Given the description of an element on the screen output the (x, y) to click on. 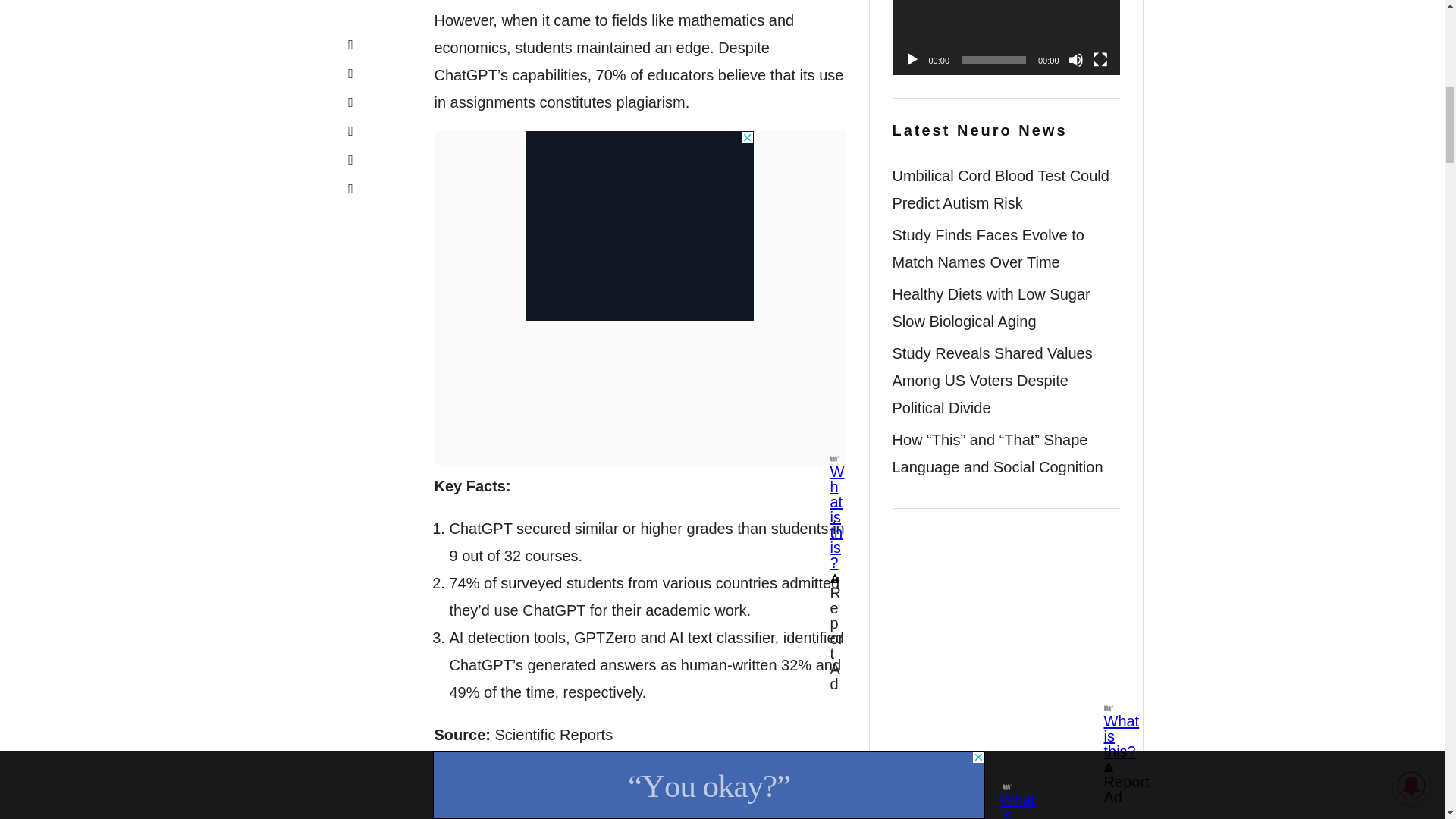
3rd party ad content (639, 226)
Mute (1075, 59)
Play (911, 59)
Fullscreen (1099, 59)
3rd party ad content (1005, 603)
